Given the description of an element on the screen output the (x, y) to click on. 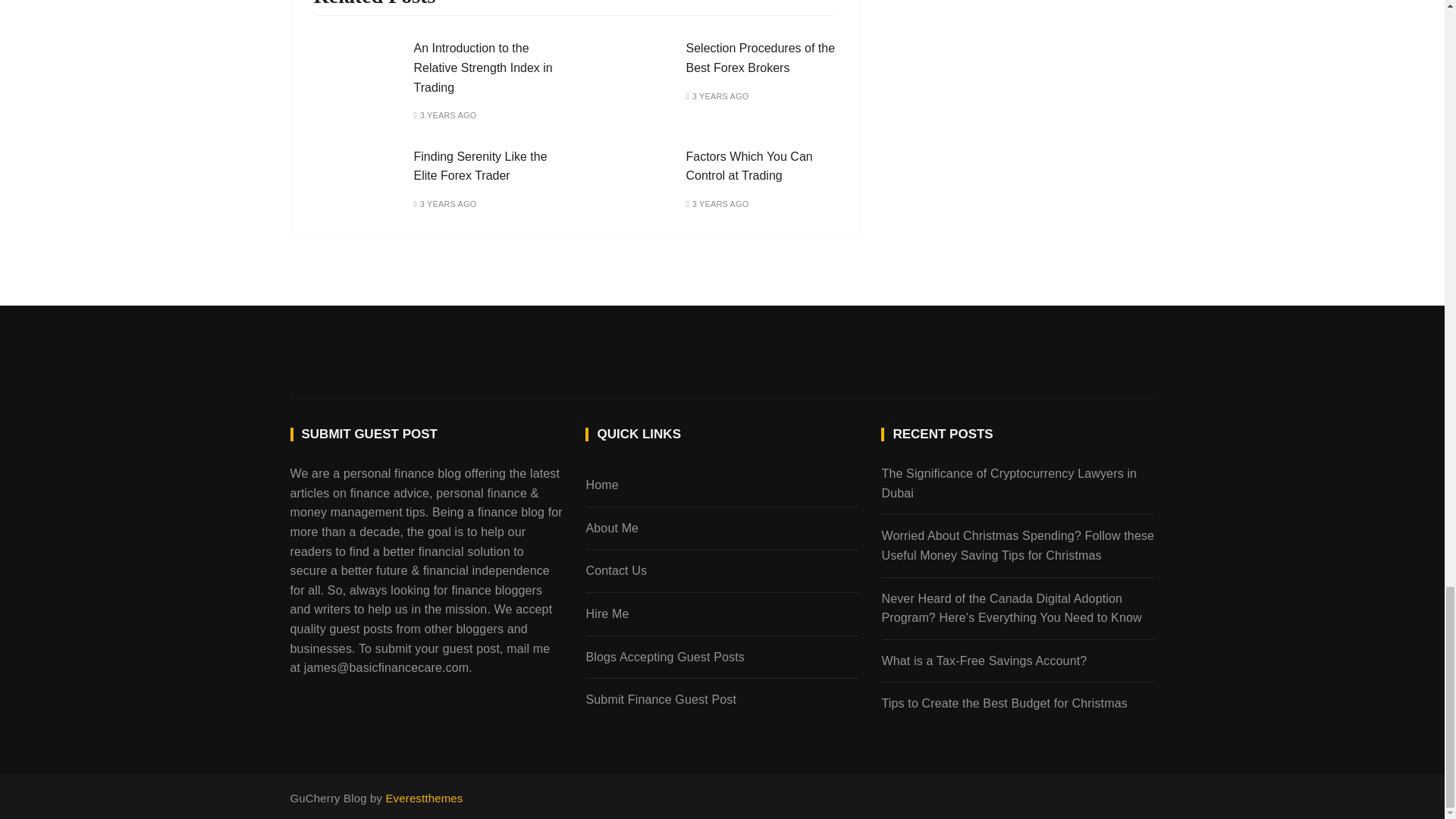
Finding Serenity Like the Elite Forex Trader (480, 165)
An Introduction to the Relative Strength Index in Trading (483, 67)
Selection Procedures of the Best Forex Brokers (759, 57)
Factors Which You Can Control at Trading (748, 165)
